Given the description of an element on the screen output the (x, y) to click on. 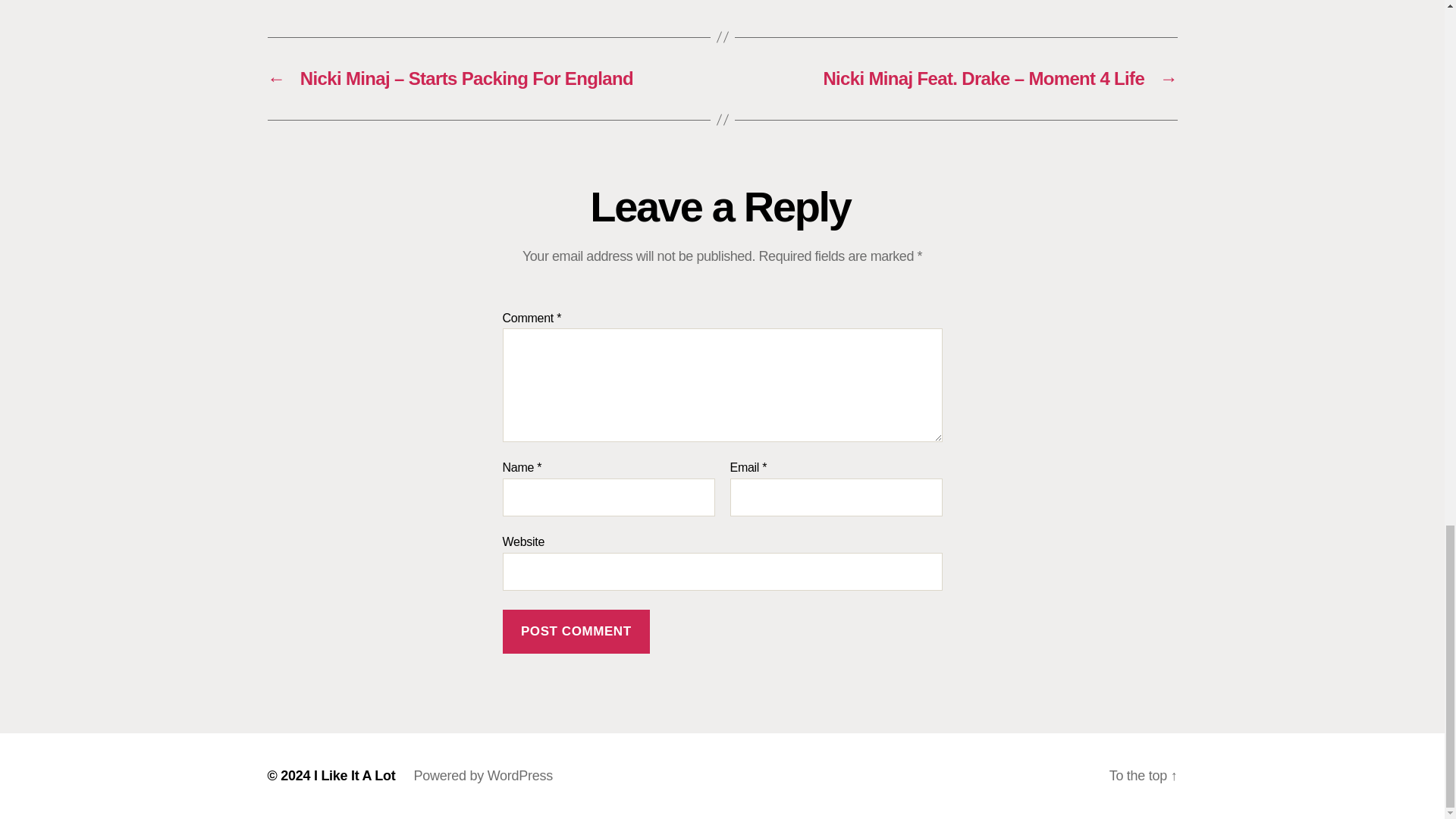
Post Comment (575, 631)
I Like It A Lot (355, 775)
Post Comment (575, 631)
Powered by WordPress (483, 775)
